Given the description of an element on the screen output the (x, y) to click on. 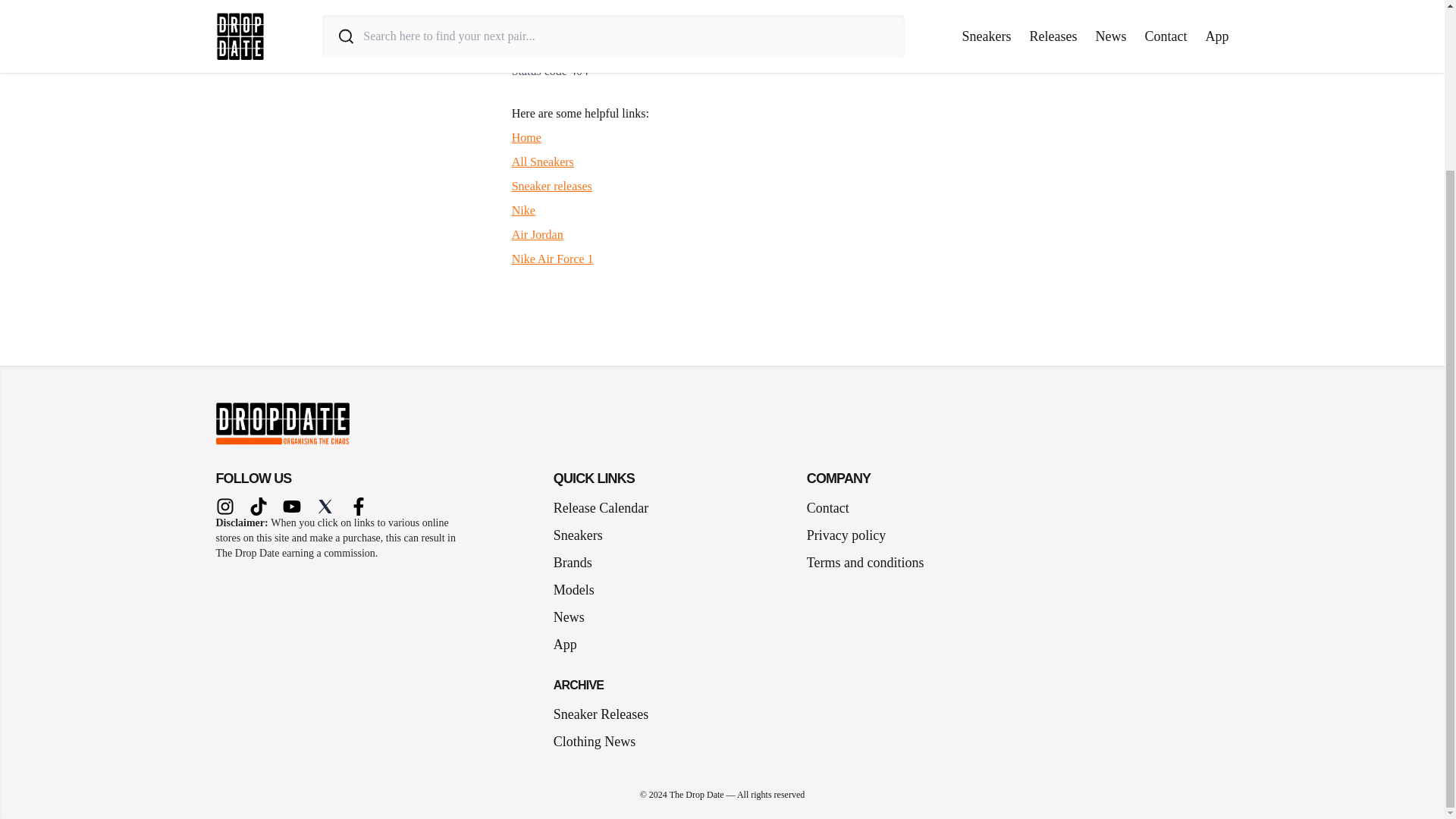
News (574, 617)
Brands (578, 562)
Sneaker releases (552, 185)
All Sneakers (542, 161)
Sneakers (583, 535)
App (571, 644)
Sneaker Releases (600, 713)
Air Jordan (537, 234)
Models (580, 589)
Privacy policy (845, 535)
